Given the description of an element on the screen output the (x, y) to click on. 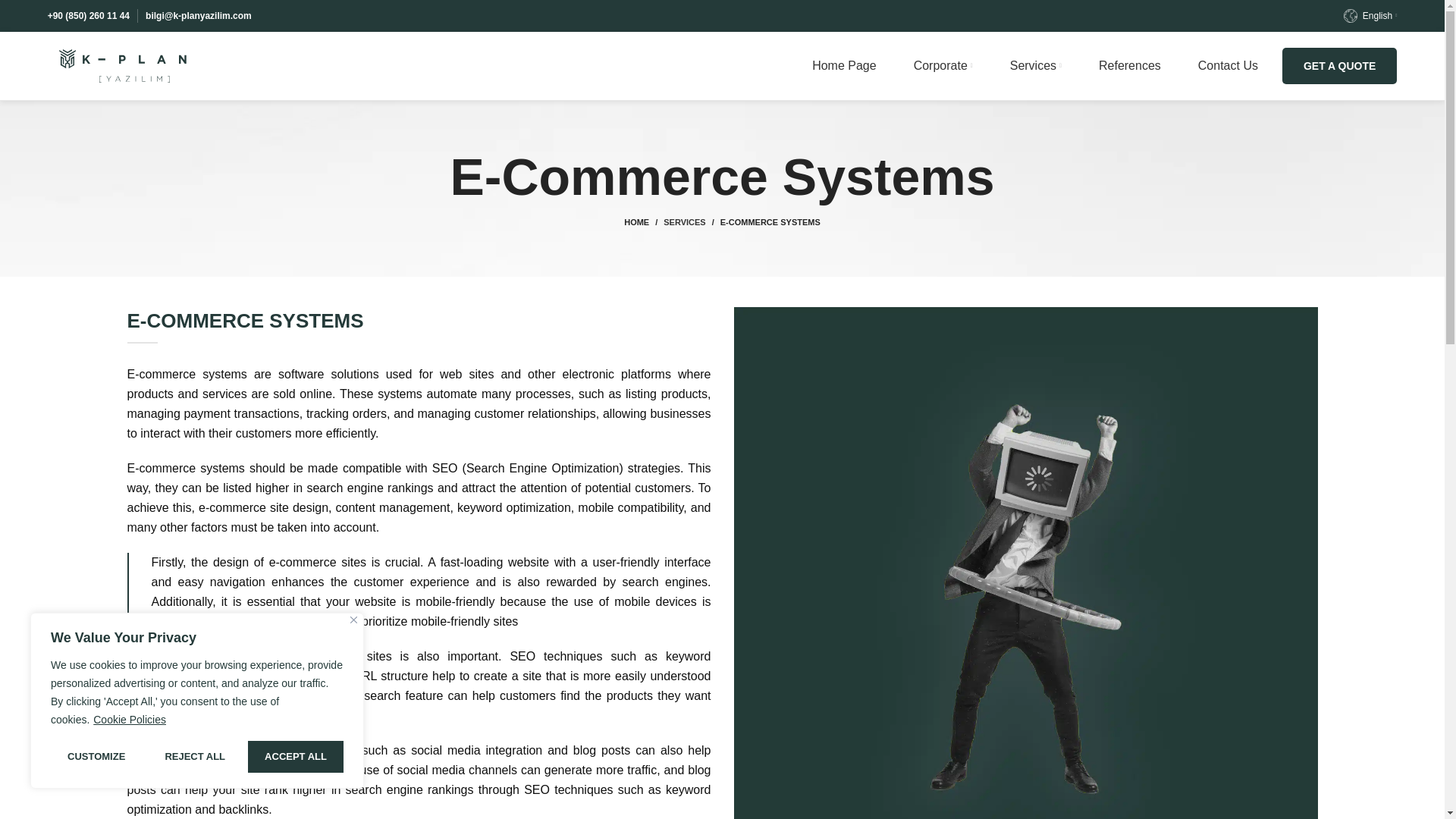
REJECT ALL (194, 757)
Cookie Policies (130, 719)
ACCEPT ALL (295, 757)
Services (1035, 65)
CUSTOMIZE (95, 757)
English (1370, 15)
Home Page (844, 65)
Corporate (942, 65)
